Given the description of an element on the screen output the (x, y) to click on. 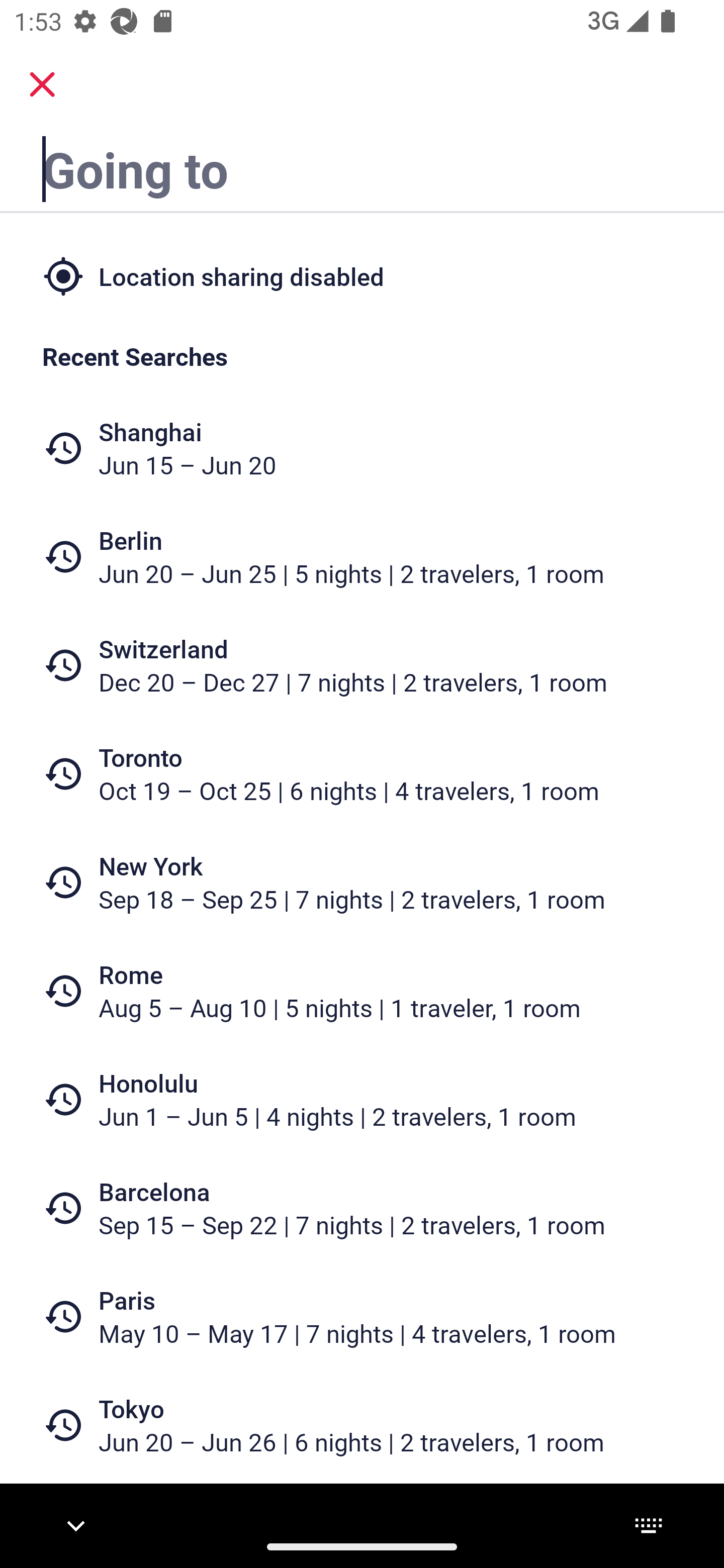
close. (42, 84)
Location sharing disabled (362, 275)
Shanghai Jun 15 – Jun 20 (362, 448)
